Given the description of an element on the screen output the (x, y) to click on. 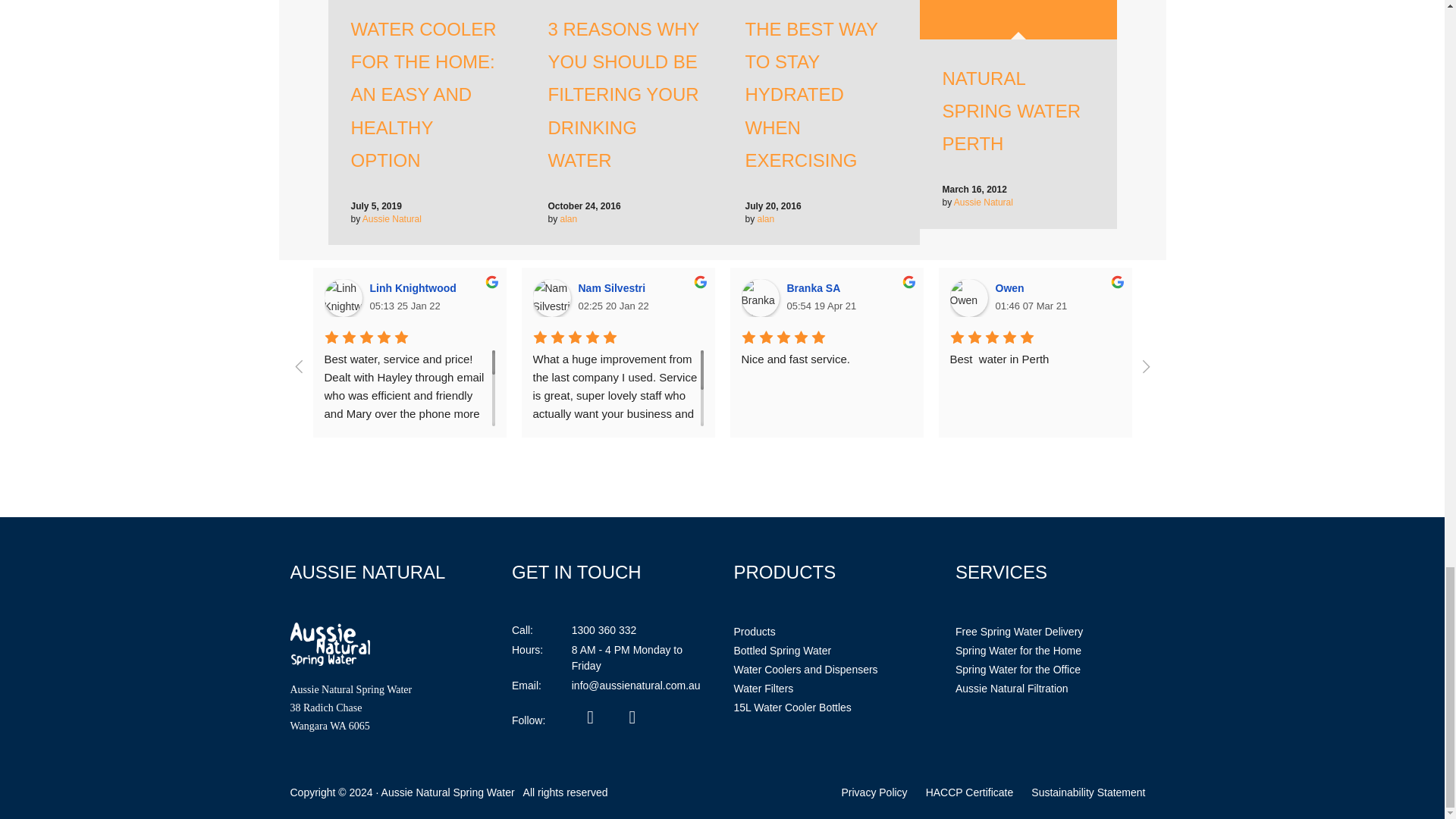
Linh Knightwood (343, 297)
Branka SA (759, 297)
Owen (968, 297)
Peter McMullen (1177, 297)
Tanya Bolt (1386, 297)
Nam Silvestri (551, 297)
